Given the description of an element on the screen output the (x, y) to click on. 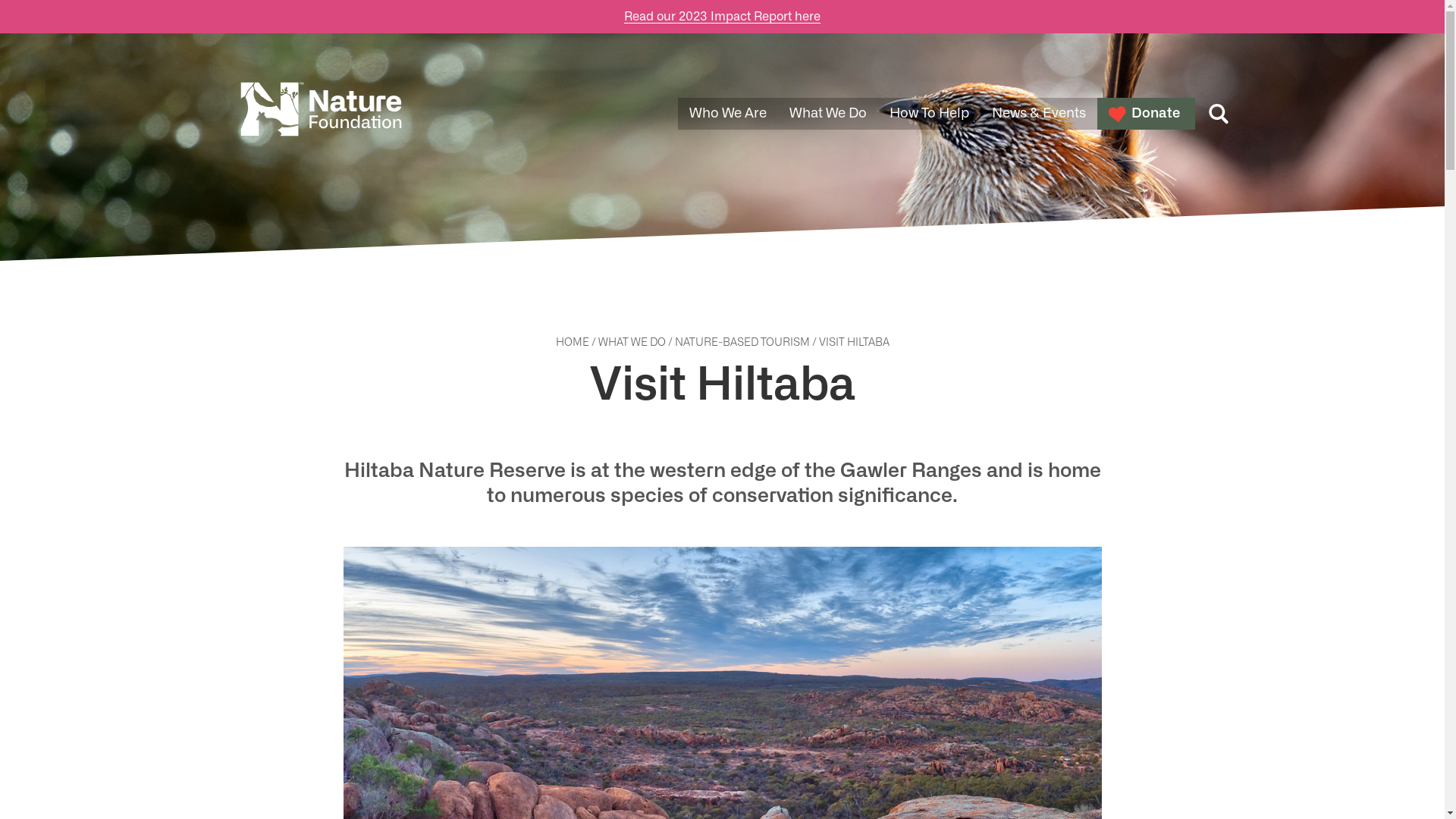
What We Do Element type: text (828, 113)
WHAT WE DO Element type: text (632, 342)
Search Element type: text (113, 399)
NATURE-BASED TOURISM Element type: text (741, 342)
Who We Are Element type: text (727, 113)
Donate Element type: text (1145, 113)
News & Events Element type: text (1037, 113)
Read our 2023 Impact Report here Element type: text (721, 16)
HOME Element type: text (572, 342)
Search Element type: text (1218, 113)
How To Help Element type: text (929, 113)
